Given the description of an element on the screen output the (x, y) to click on. 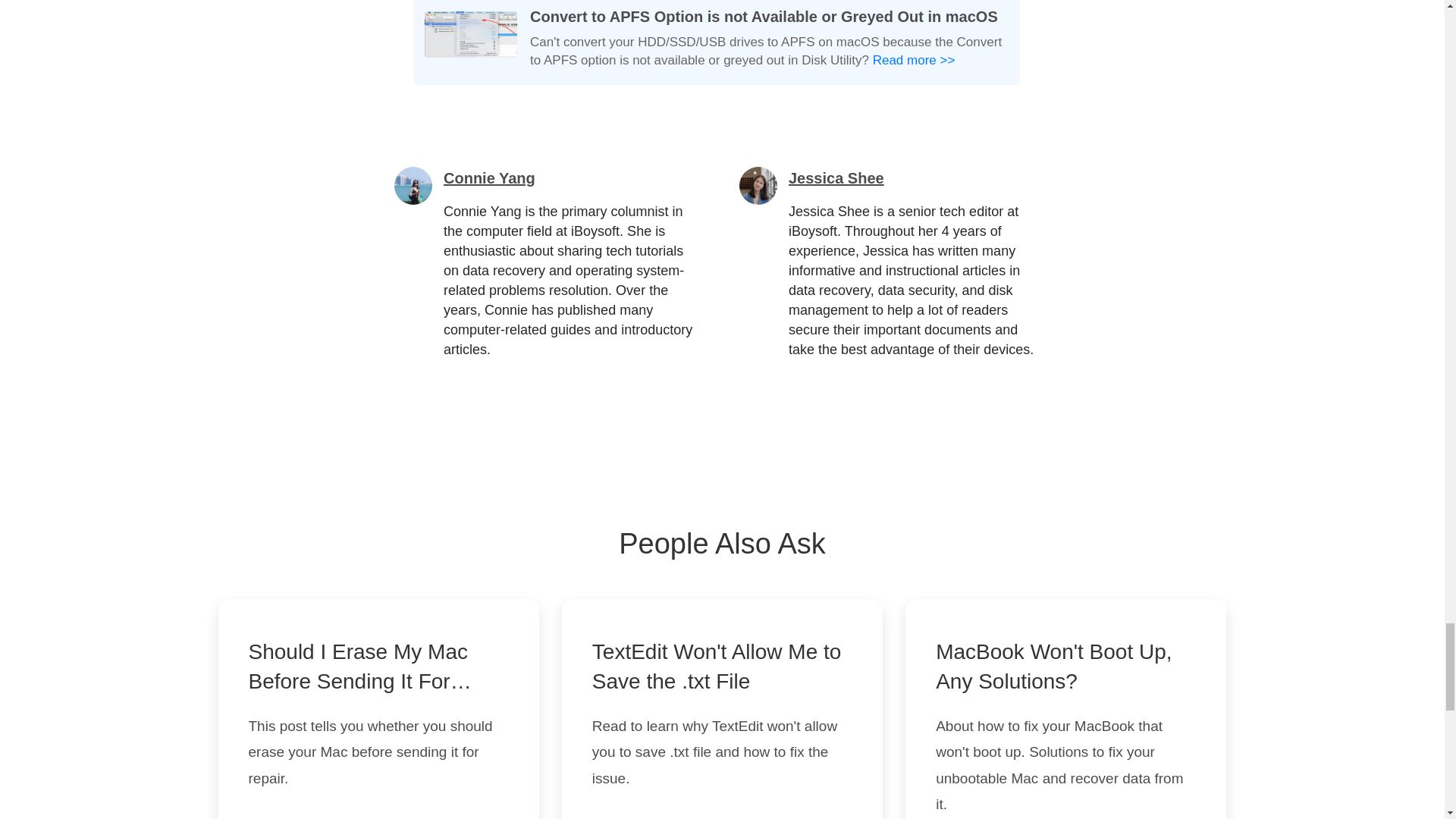
Jessica Shee (836, 177)
Connie Yang (489, 177)
